Given the description of an element on the screen output the (x, y) to click on. 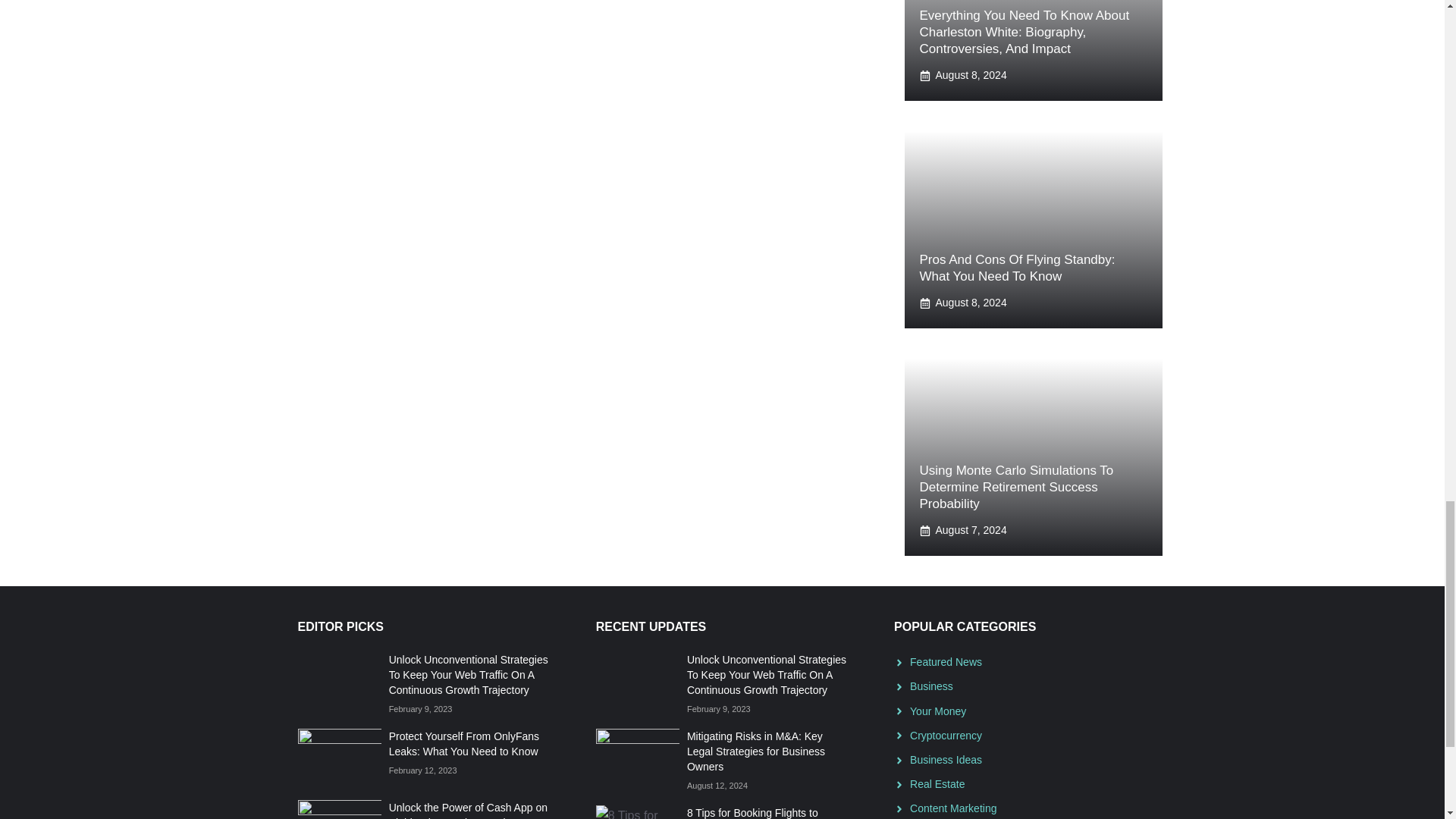
Protect Yourself From OnlyFans Leaks: What You Need to Know (463, 743)
Pros And Cons Of Flying Standby: What You Need To Know (1016, 267)
